Given the description of an element on the screen output the (x, y) to click on. 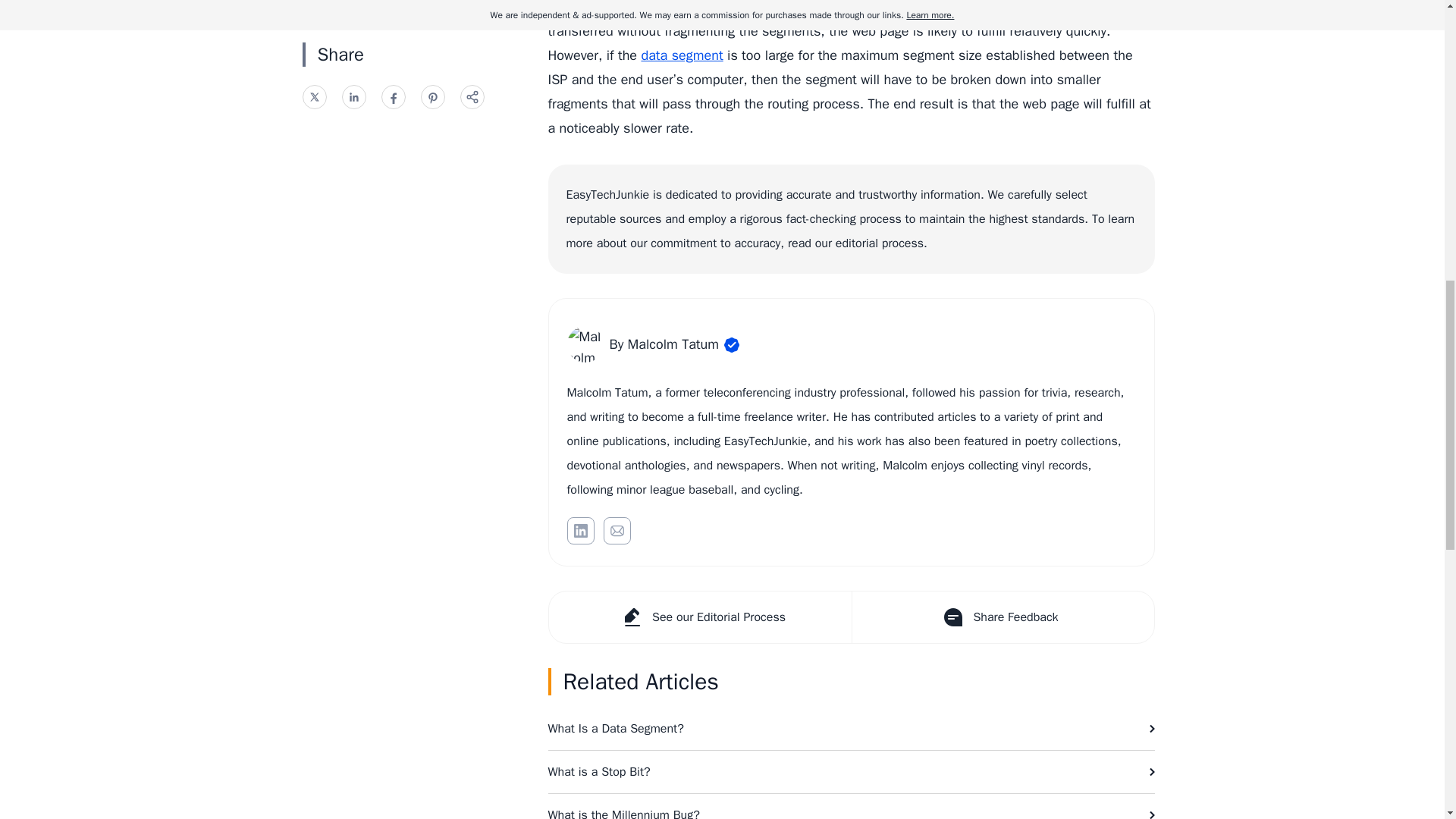
Share Feedback (1001, 616)
What Is a Data Segment? (850, 728)
What is a Stop Bit? (850, 772)
See our Editorial Process (699, 616)
data segment (681, 54)
